Given the description of an element on the screen output the (x, y) to click on. 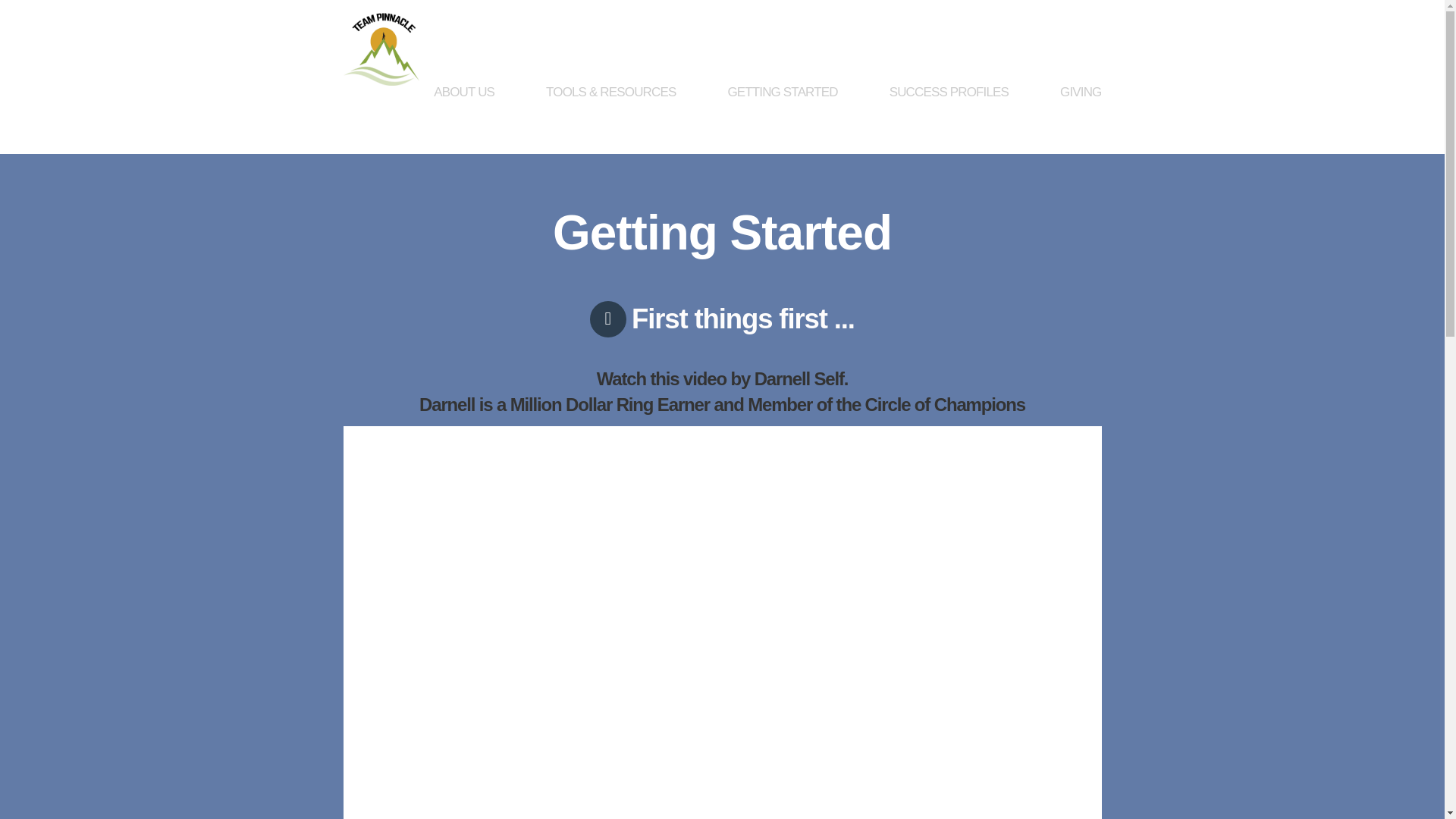
GETTING STARTED (782, 119)
ABOUT US (463, 119)
GIVING (1066, 119)
SUCCESS PROFILES (948, 119)
